Given the description of an element on the screen output the (x, y) to click on. 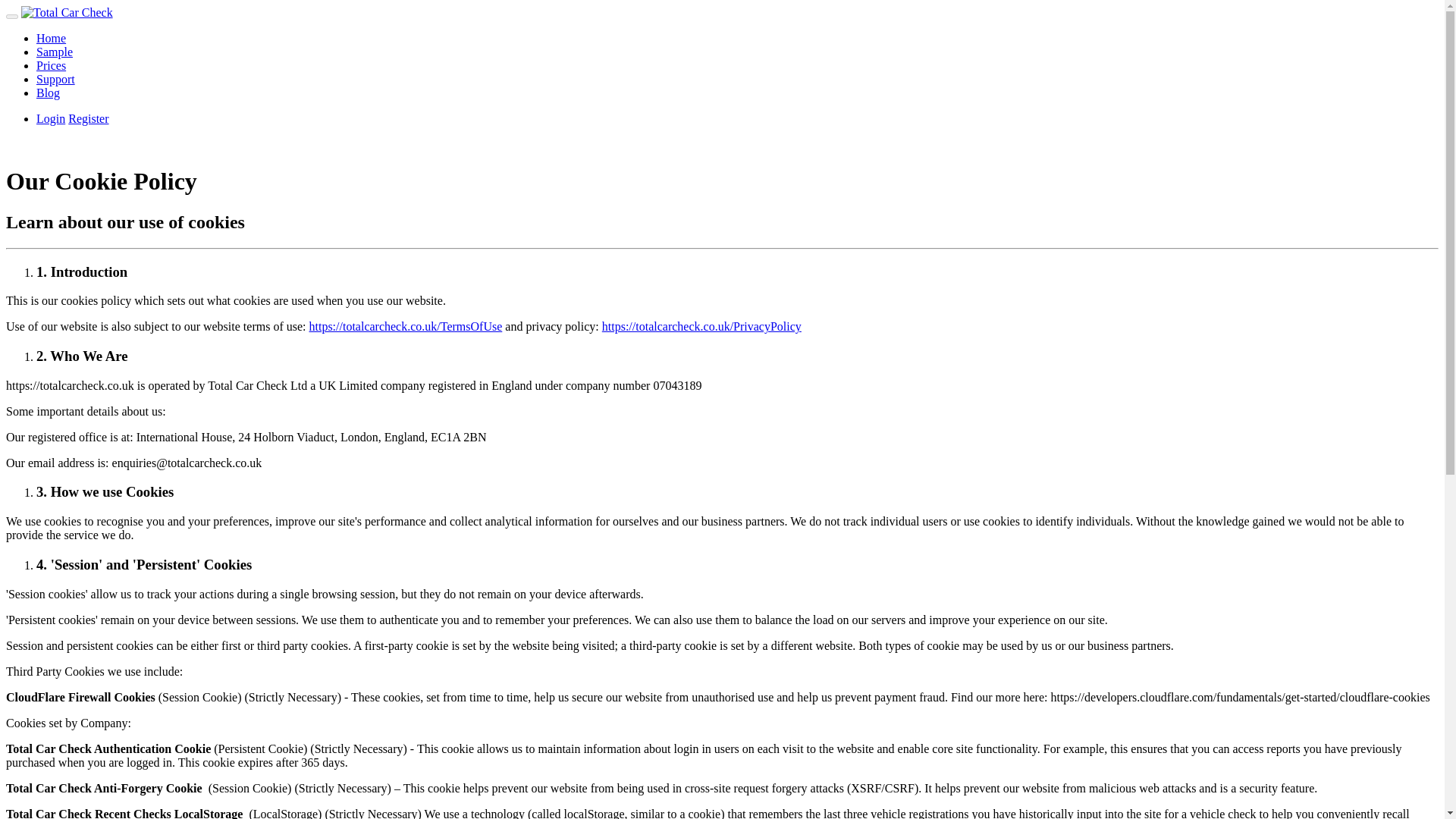
Sample (54, 51)
Login (50, 118)
Register (87, 118)
Home (50, 38)
Blog (47, 92)
Support (55, 78)
Prices (50, 65)
